Given the description of an element on the screen output the (x, y) to click on. 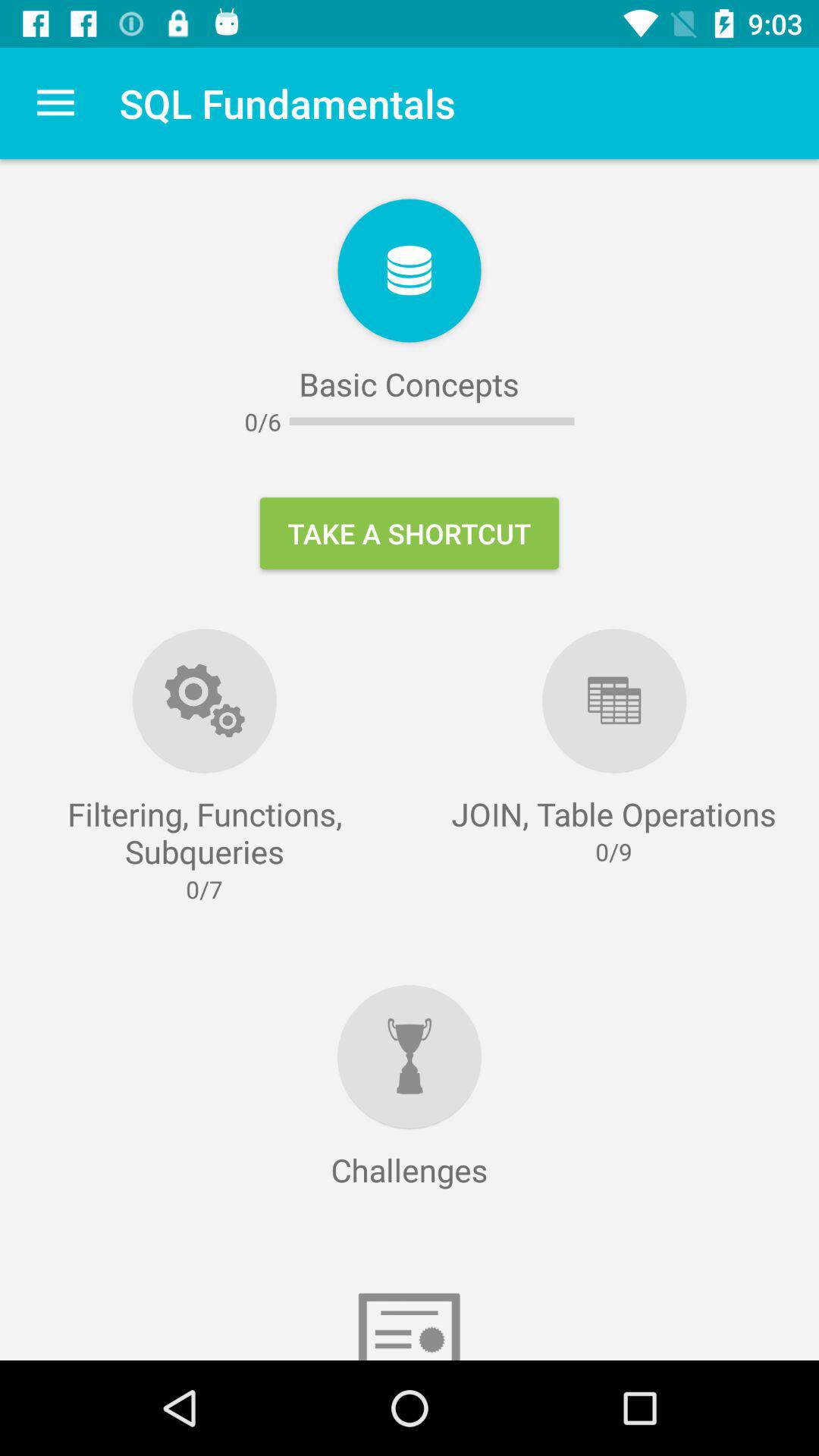
open the take a shortcut (409, 533)
